Given the description of an element on the screen output the (x, y) to click on. 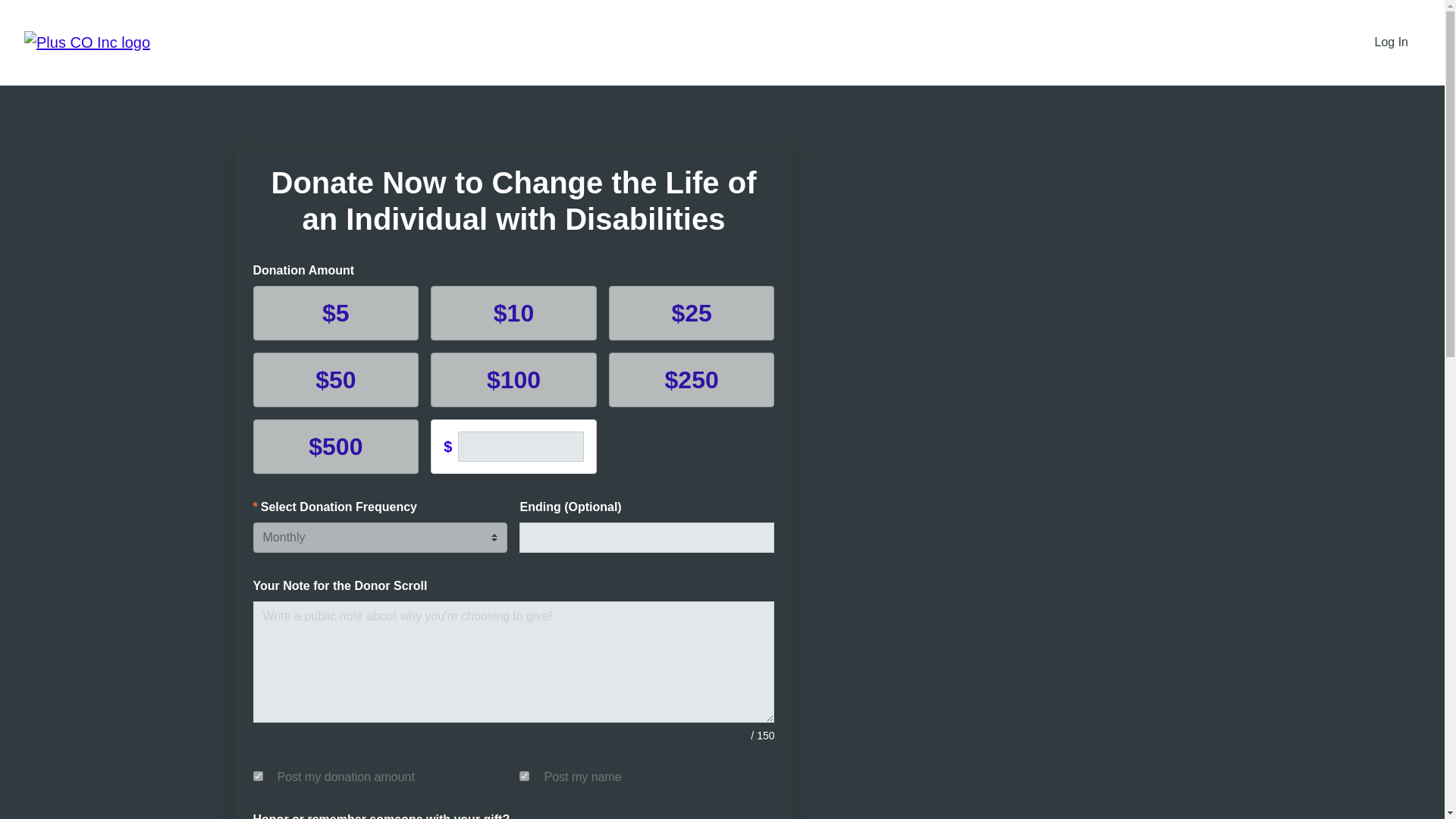
Custom Donation Amount (520, 446)
1 (524, 776)
1 (258, 776)
Log In (1391, 42)
